Given the description of an element on the screen output the (x, y) to click on. 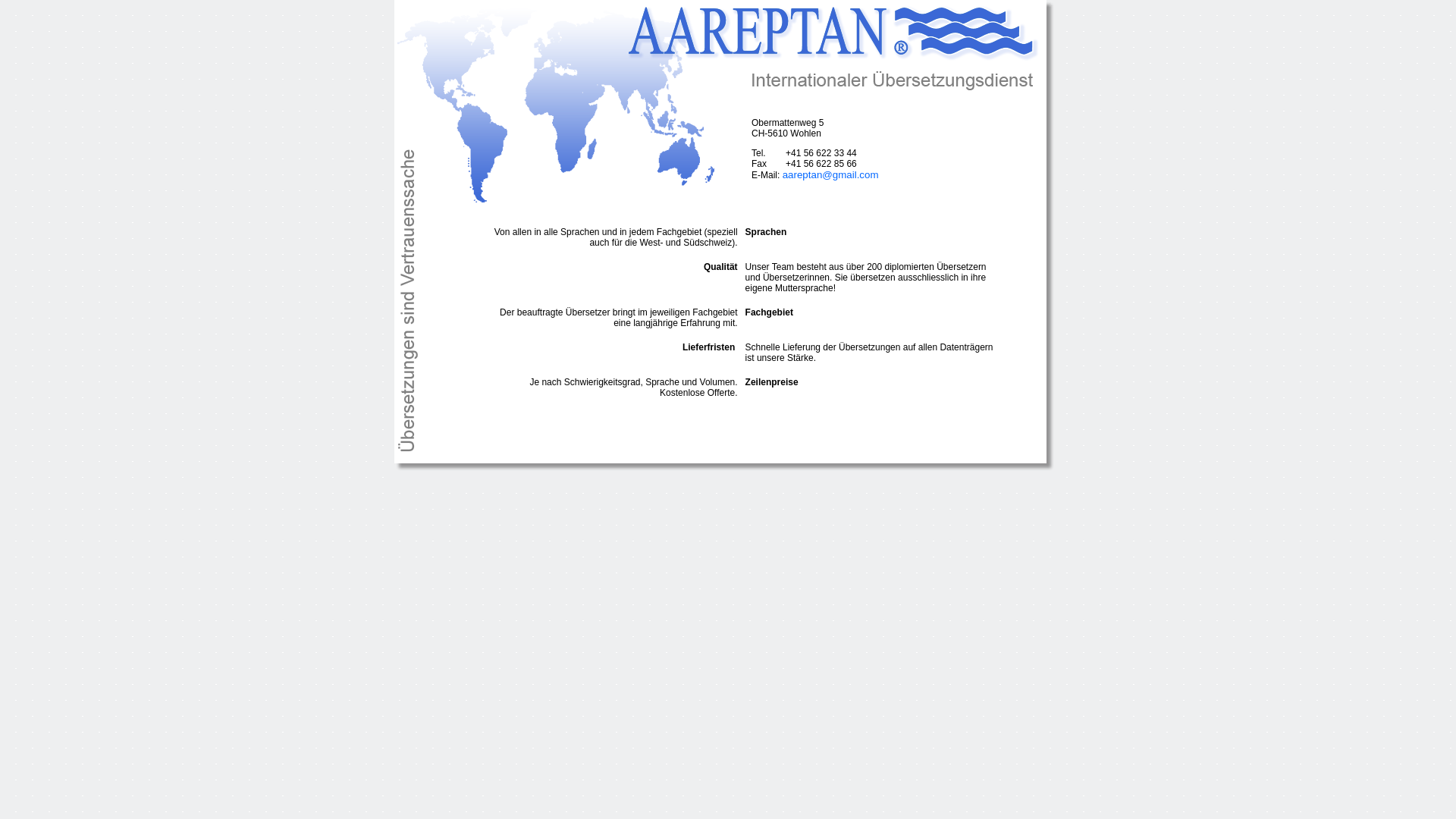
aareptan@gmail.com Element type: text (830, 174)
